Given the description of an element on the screen output the (x, y) to click on. 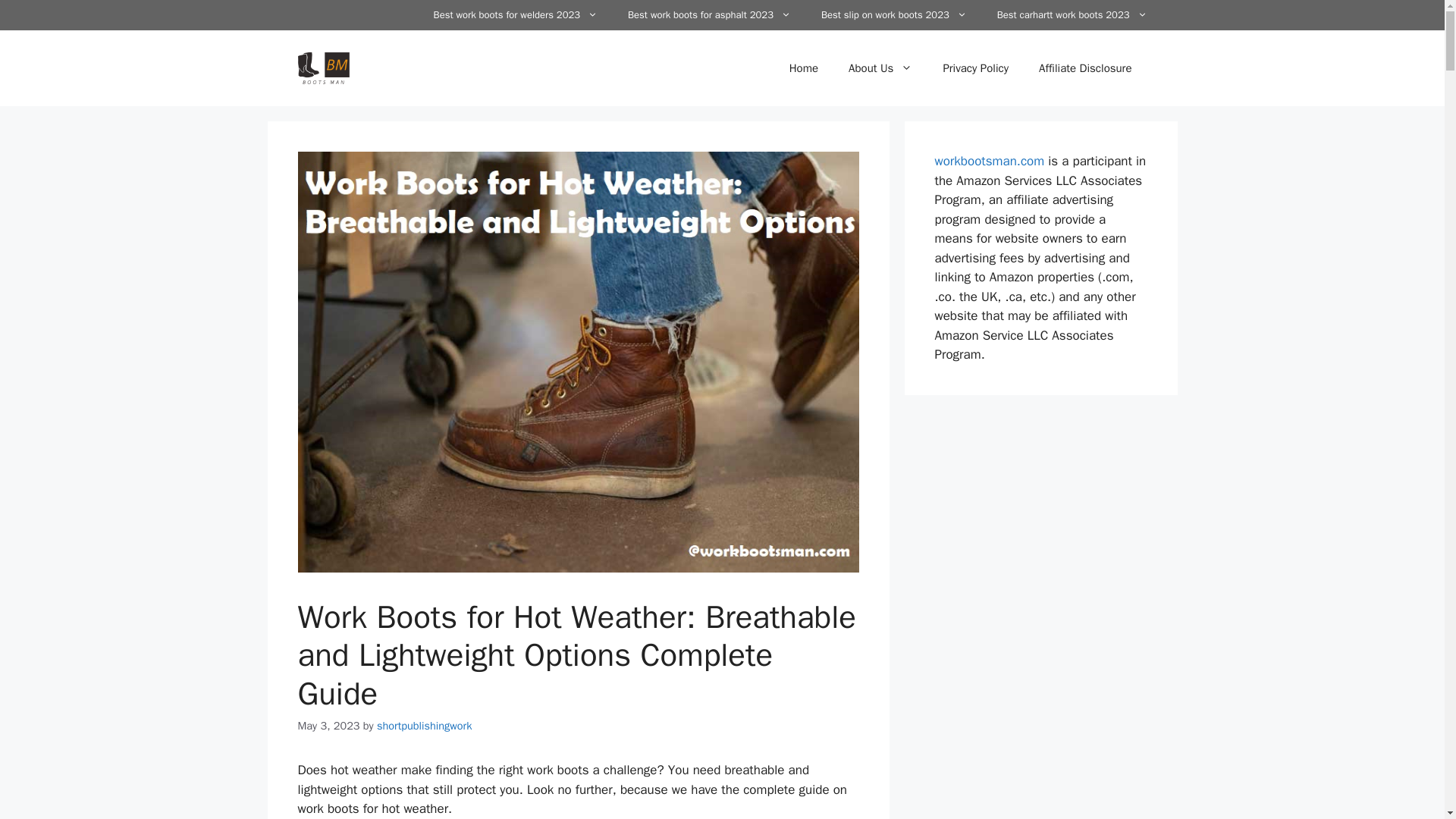
Best work boots for asphalt 2023 (709, 15)
View all posts by shortpublishingwork (424, 725)
Best work boots for welders 2023 (515, 15)
Best slip on work boots 2023 (893, 15)
